Given the description of an element on the screen output the (x, y) to click on. 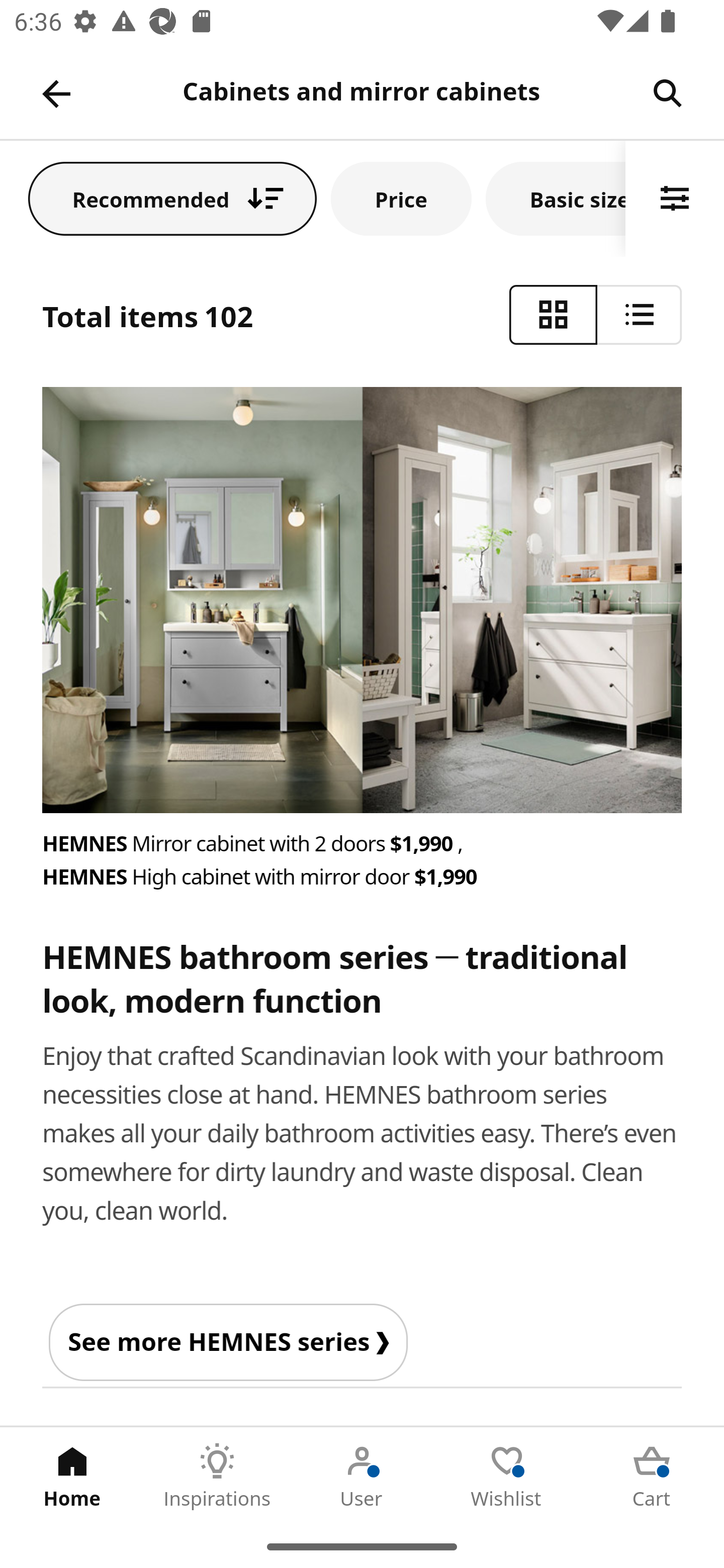
Recommended (172, 198)
Price (400, 198)
Basic sizes (555, 198)
HEMNES Mirror cabinet with 2 doors $1,990 , (362, 843)
HEMNES High cabinet with mirror door $1,990 (362, 876)
See more HEMNES series ❯ (228, 1341)
Home
Tab 1 of 5 (72, 1476)
Inspirations
Tab 2 of 5 (216, 1476)
User
Tab 3 of 5 (361, 1476)
Wishlist
Tab 4 of 5 (506, 1476)
Cart
Tab 5 of 5 (651, 1476)
